Given the description of an element on the screen output the (x, y) to click on. 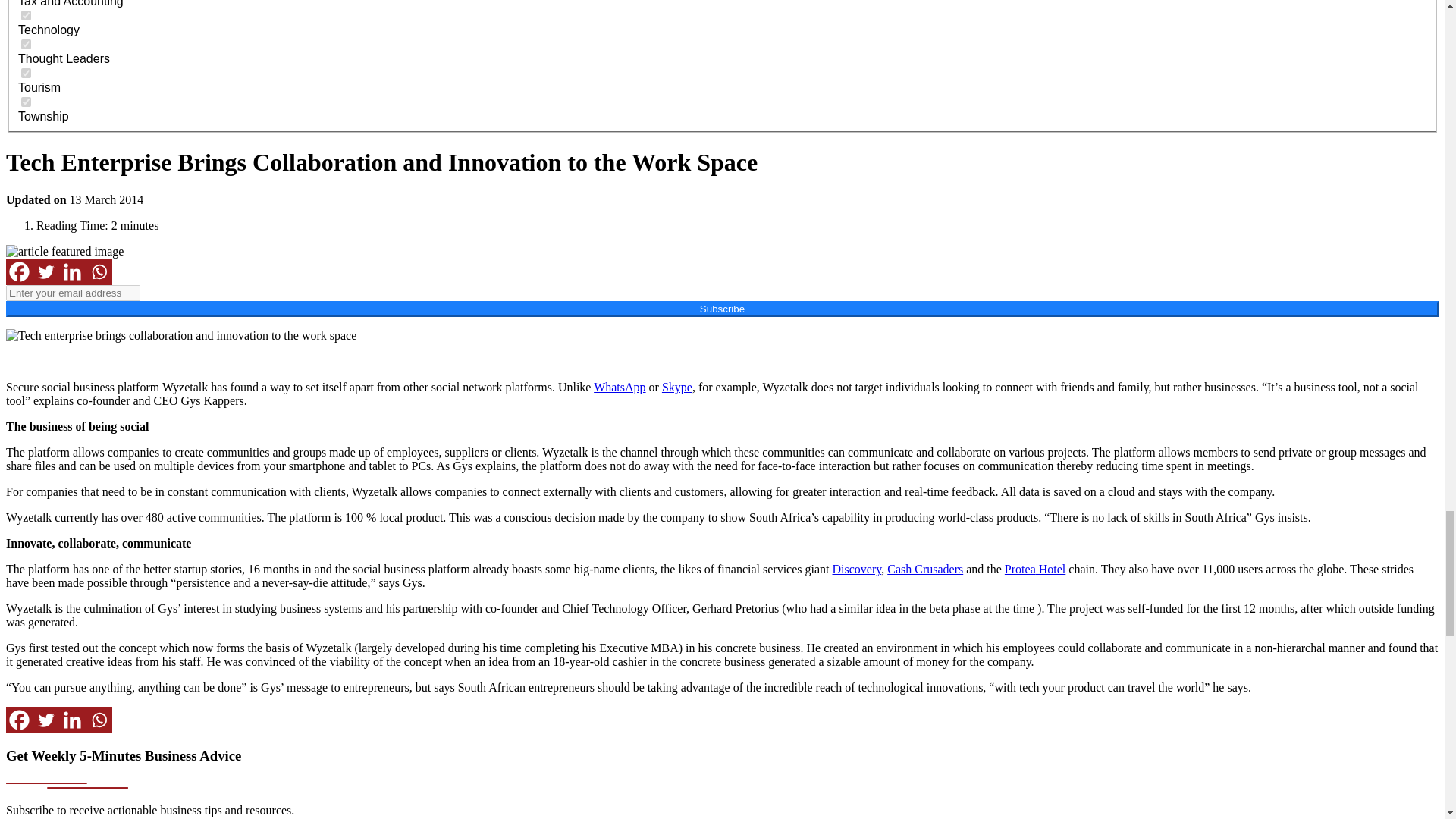
Cash Crusaders (924, 568)
Twitter (45, 271)
Linkedin (72, 271)
Discovery (857, 568)
Facebook (18, 271)
Whatsapp (98, 271)
Whatsapp (98, 719)
Skype (677, 386)
Twitter (45, 719)
